Given the description of an element on the screen output the (x, y) to click on. 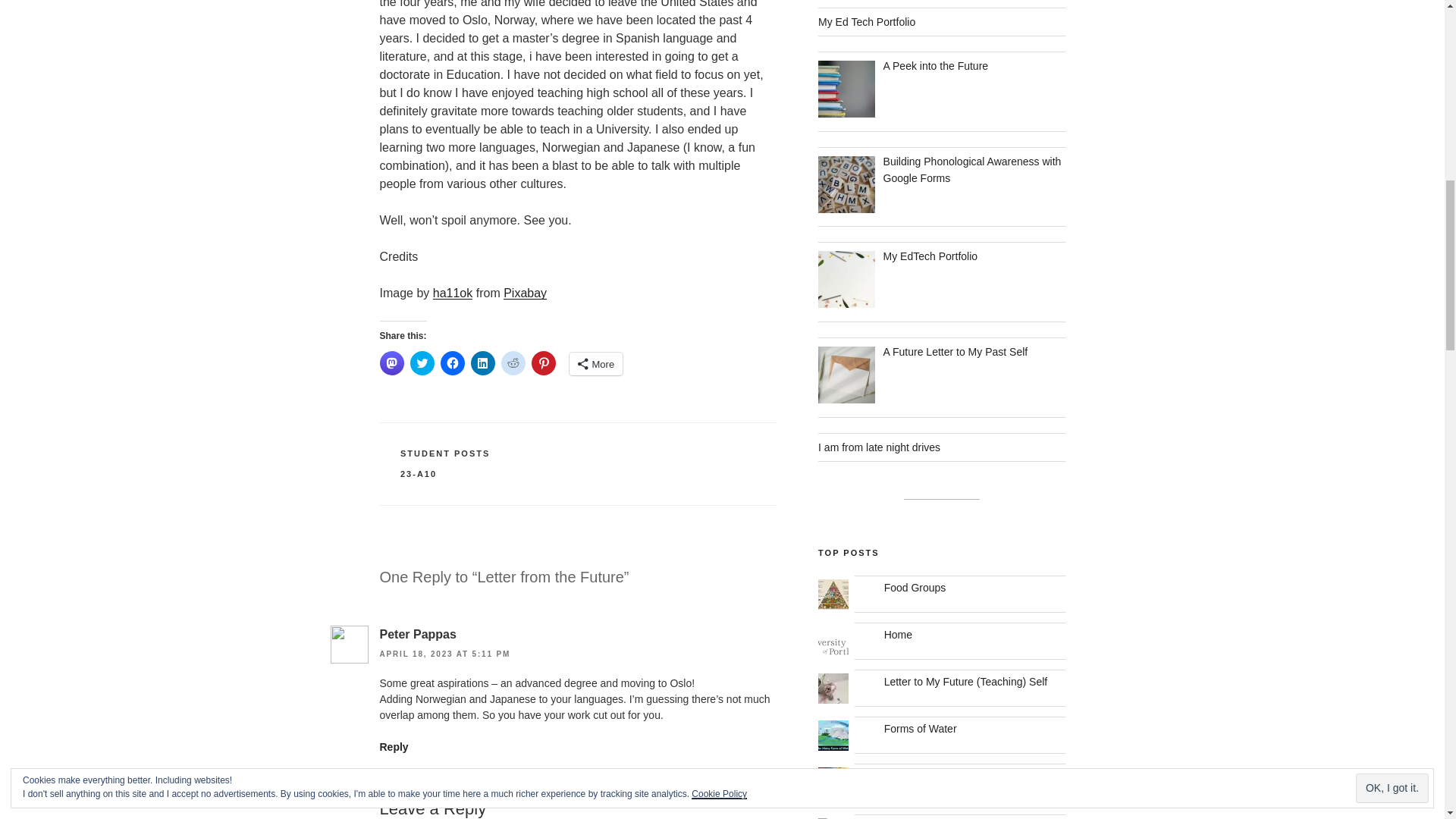
Click to share on Mastodon (390, 363)
My Ed Tech Portfolio (866, 21)
Reply (392, 746)
My EdTech Portfolio (930, 256)
Pixabay (525, 292)
More (596, 363)
A Future Letter to My Past Self (955, 351)
APRIL 18, 2023 AT 5:11 PM (444, 654)
I am from late night drives (879, 447)
Building Phonological Awareness with Google Forms (972, 169)
Click to share on LinkedIn (482, 363)
23-A10 (418, 473)
Click to share on Reddit (512, 363)
A Peek into the Future (935, 65)
STUDENT POSTS (444, 452)
